Given the description of an element on the screen output the (x, y) to click on. 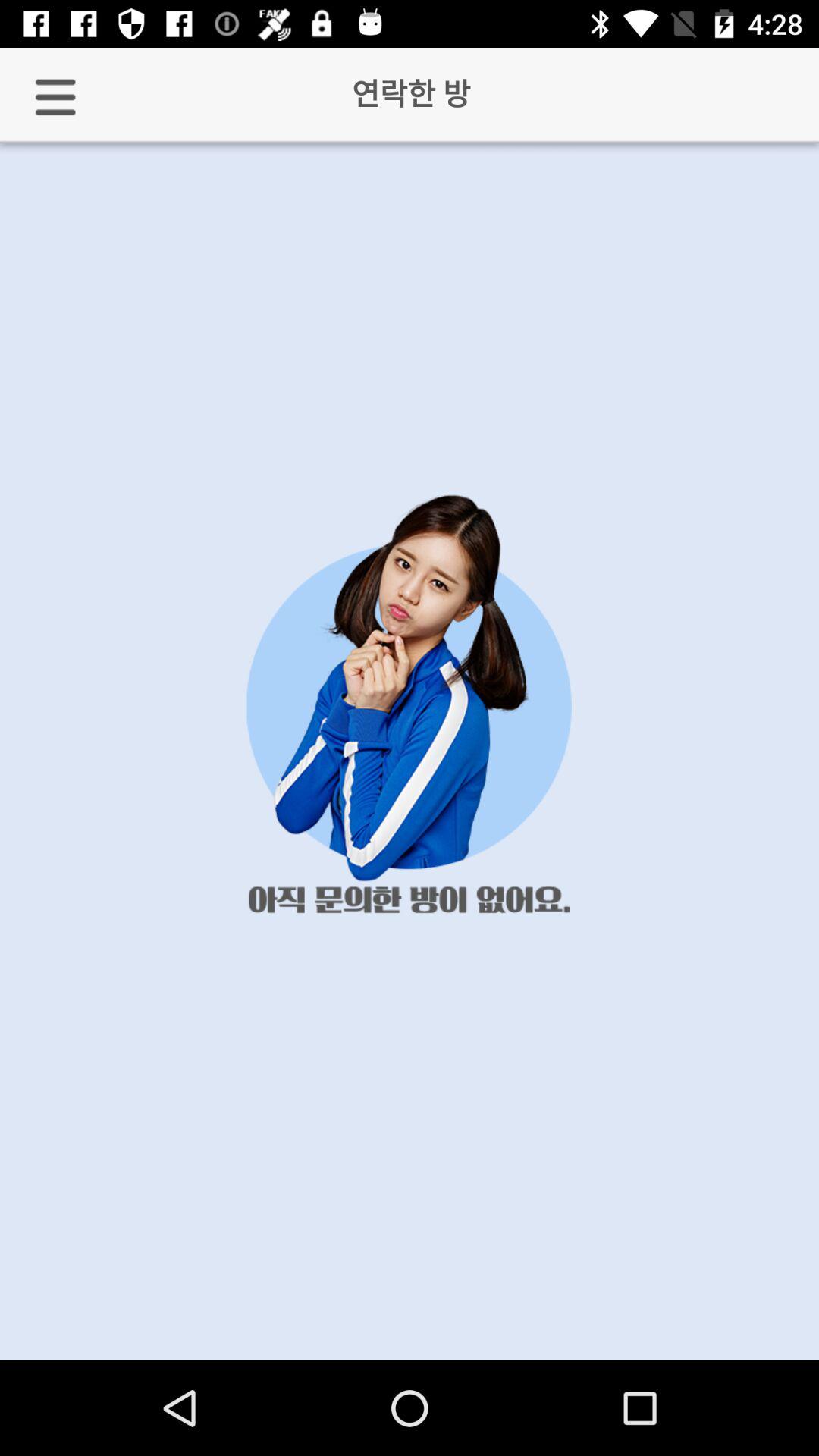
click icon at the top left corner (55, 97)
